Given the description of an element on the screen output the (x, y) to click on. 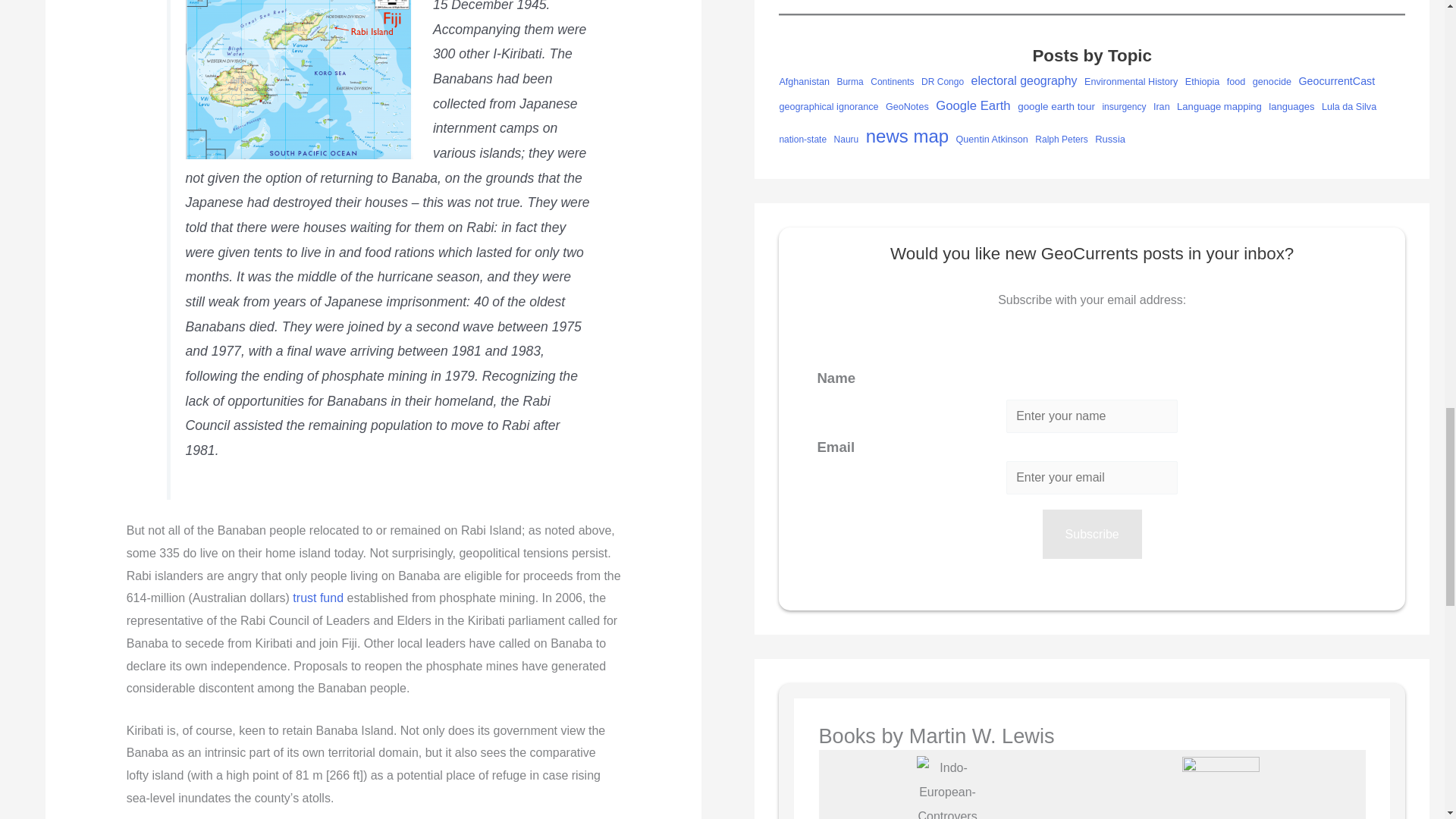
Subscribe (1091, 534)
Indo-European-Controversy by Asya Pereltsvaig Martin Lewis (947, 787)
diversity amid globalization martin lewis (1220, 787)
